Given the description of an element on the screen output the (x, y) to click on. 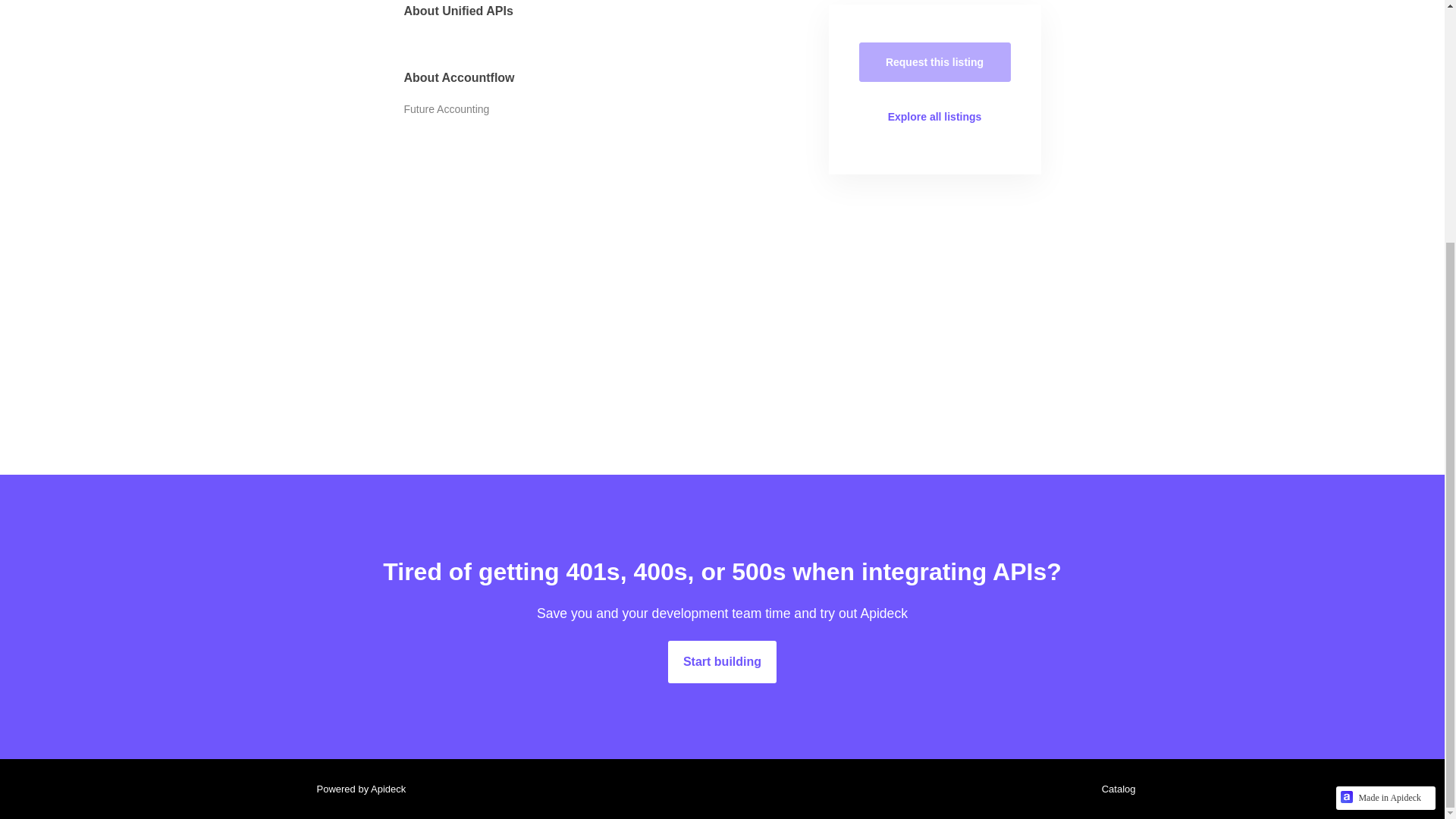
Powered by Apideck (356, 789)
Explore all listings (934, 116)
Request this listing (934, 61)
Catalog (1115, 789)
Start building (722, 661)
